Given the description of an element on the screen output the (x, y) to click on. 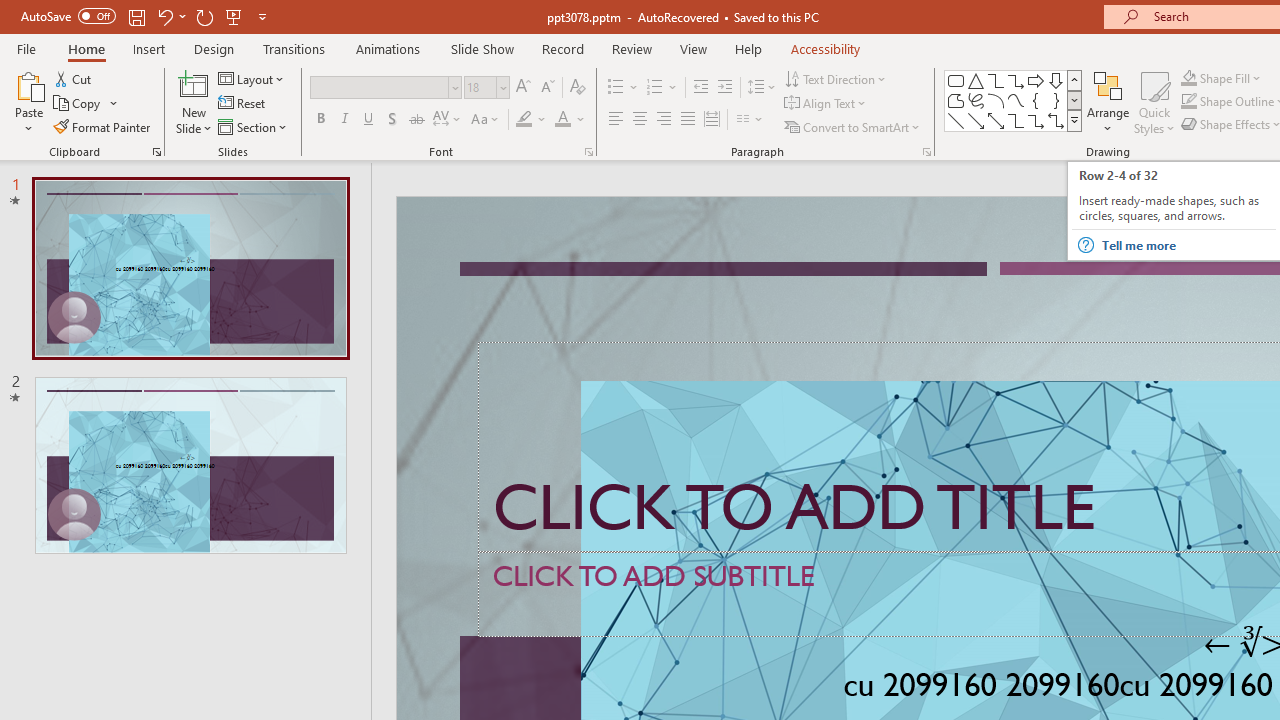
Columns (750, 119)
Line Arrow (975, 120)
Italic (344, 119)
Justify (687, 119)
Paragraph... (926, 151)
Connector: Elbow (1016, 120)
